Given the description of an element on the screen output the (x, y) to click on. 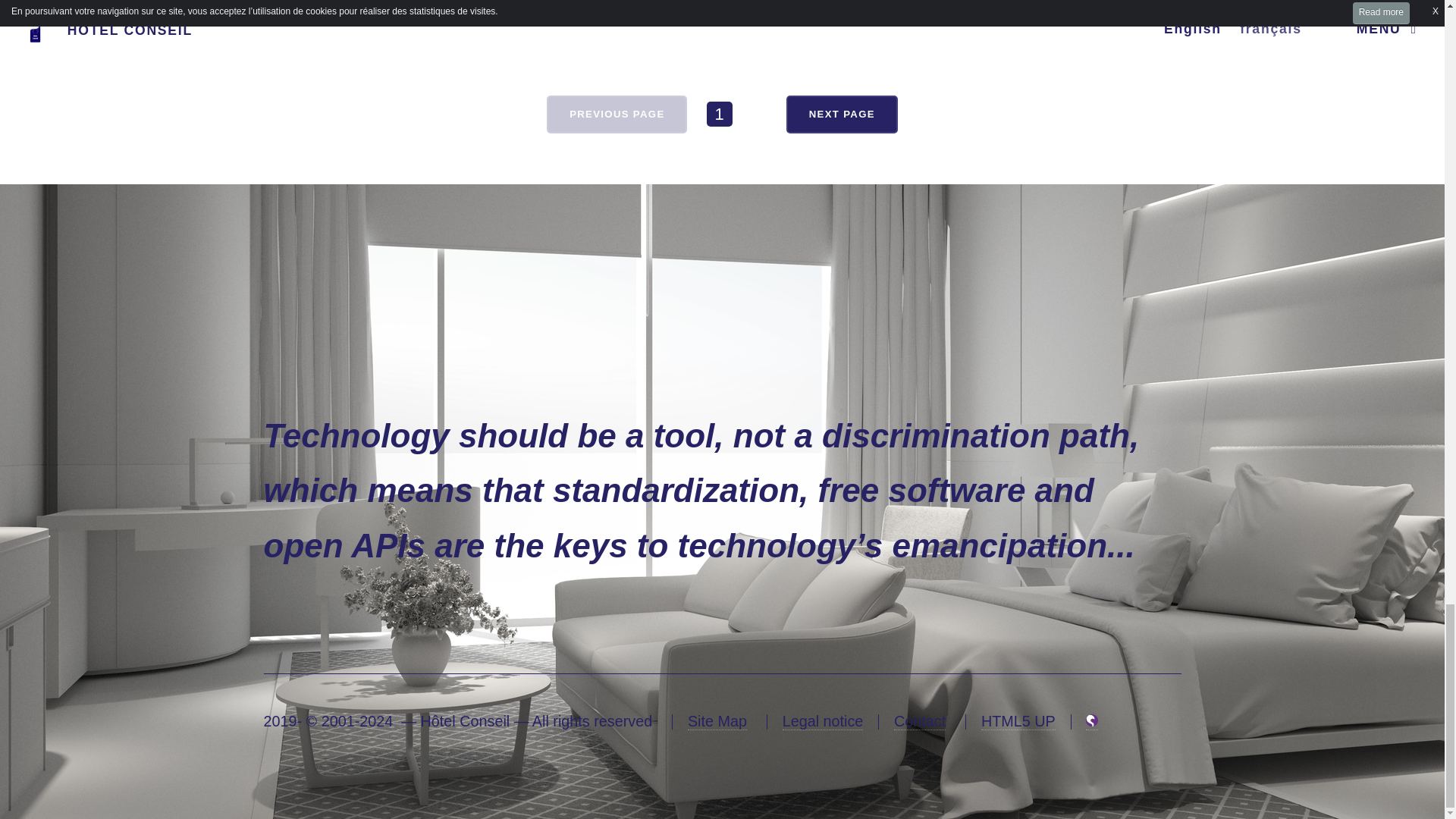
HTML5 UP (1018, 721)
PREVIOUS PAGE (617, 114)
NEXT PAGE (841, 114)
LEARN MORE (480, 4)
Contact (918, 721)
1 (719, 113)
previous page (617, 114)
next page (841, 114)
Site Map (716, 721)
Design by HTML5 UP (1018, 721)
